Given the description of an element on the screen output the (x, y) to click on. 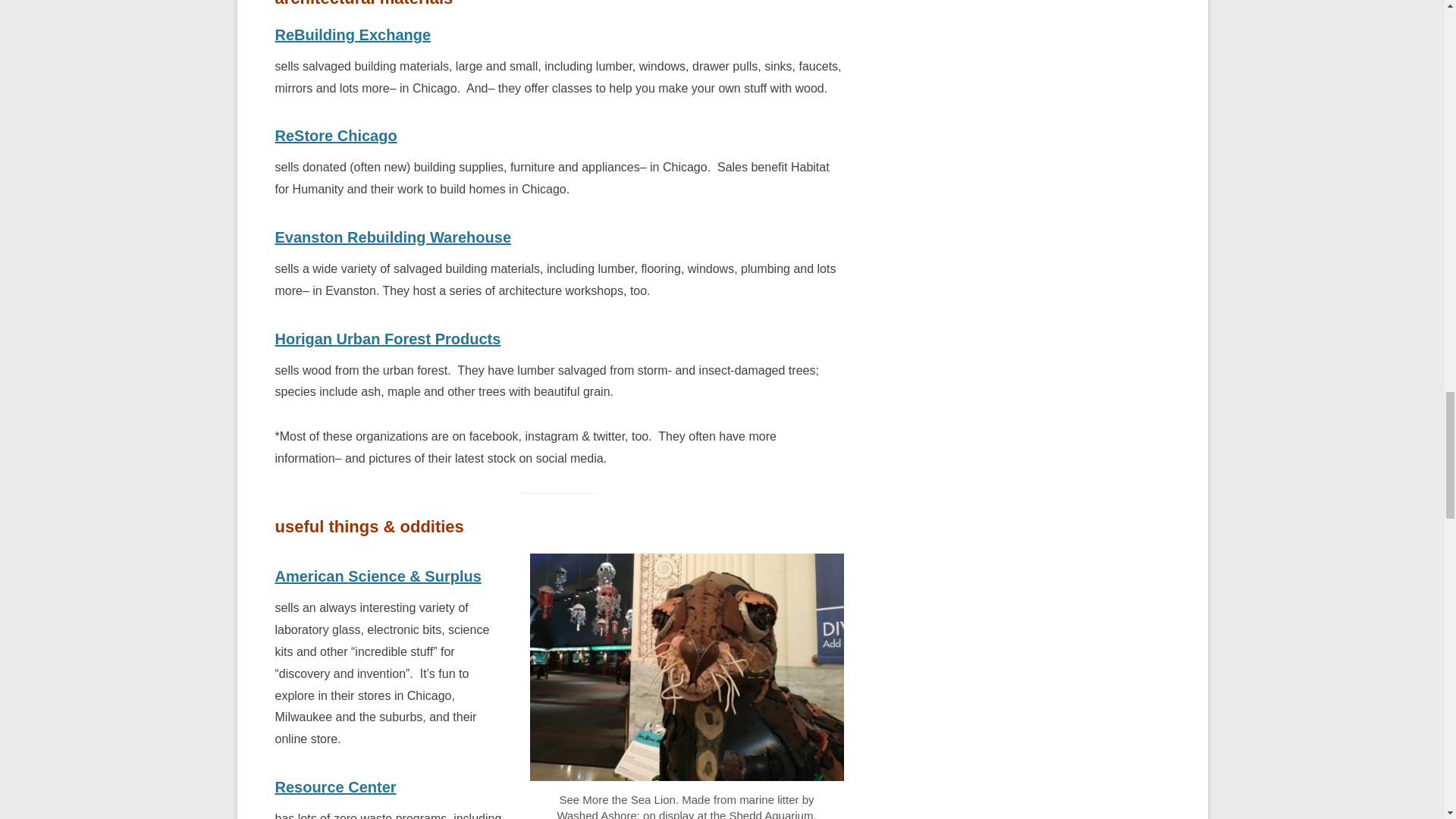
Resource Center (335, 786)
Evanston Rebuilding Warehouse (393, 237)
ReBuilding Exchange (352, 34)
ReStore Chicago (335, 135)
Horigan Urban Forest Products (387, 338)
